Given the description of an element on the screen output the (x, y) to click on. 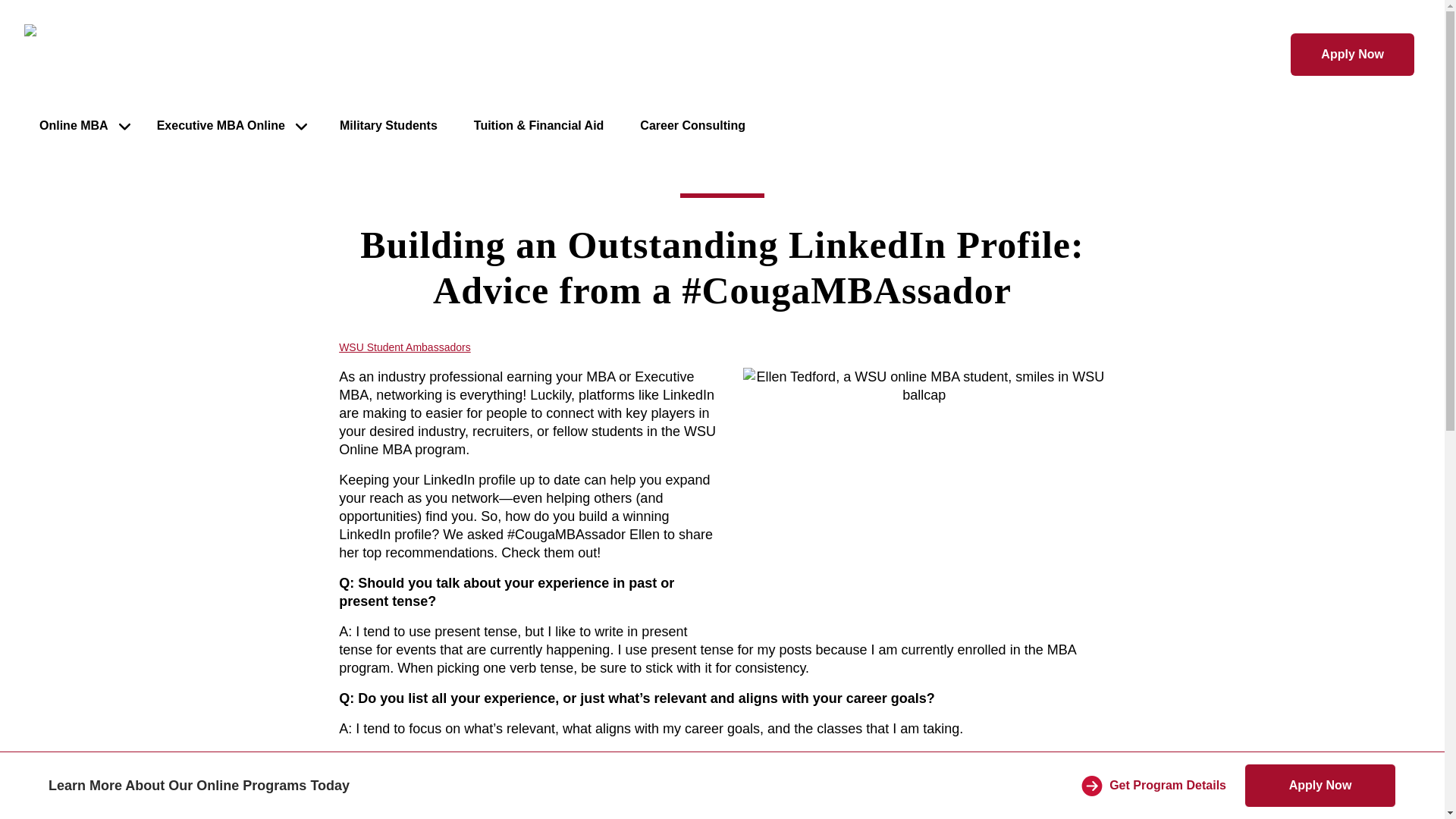
Apply Now (1351, 54)
Military Students (388, 126)
Career Consulting (691, 126)
